Given the description of an element on the screen output the (x, y) to click on. 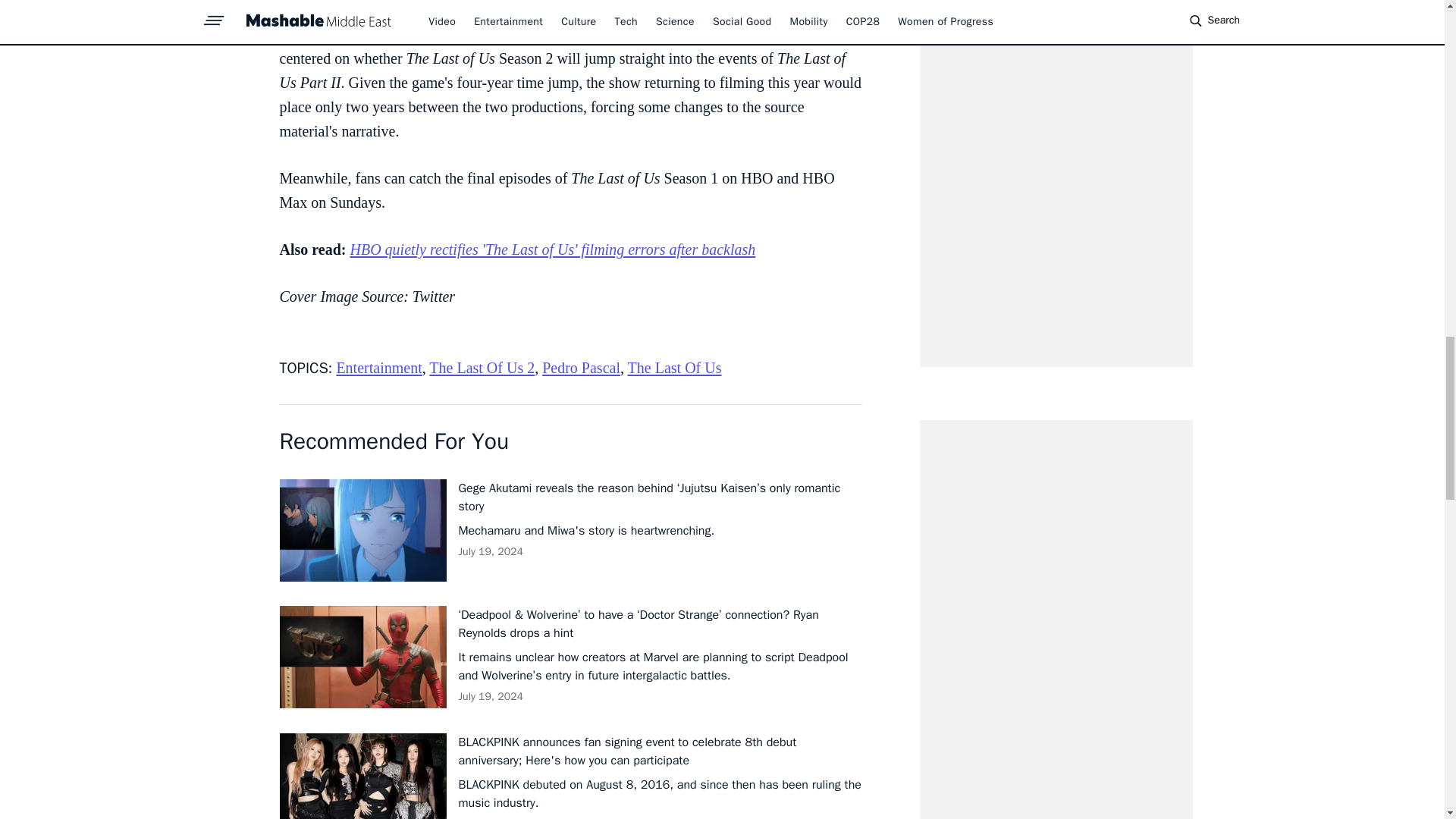
Pedro Pascal (580, 367)
The Last Of Us (674, 367)
The Last Of Us 2 (481, 367)
Entertainment (379, 367)
